Given the description of an element on the screen output the (x, y) to click on. 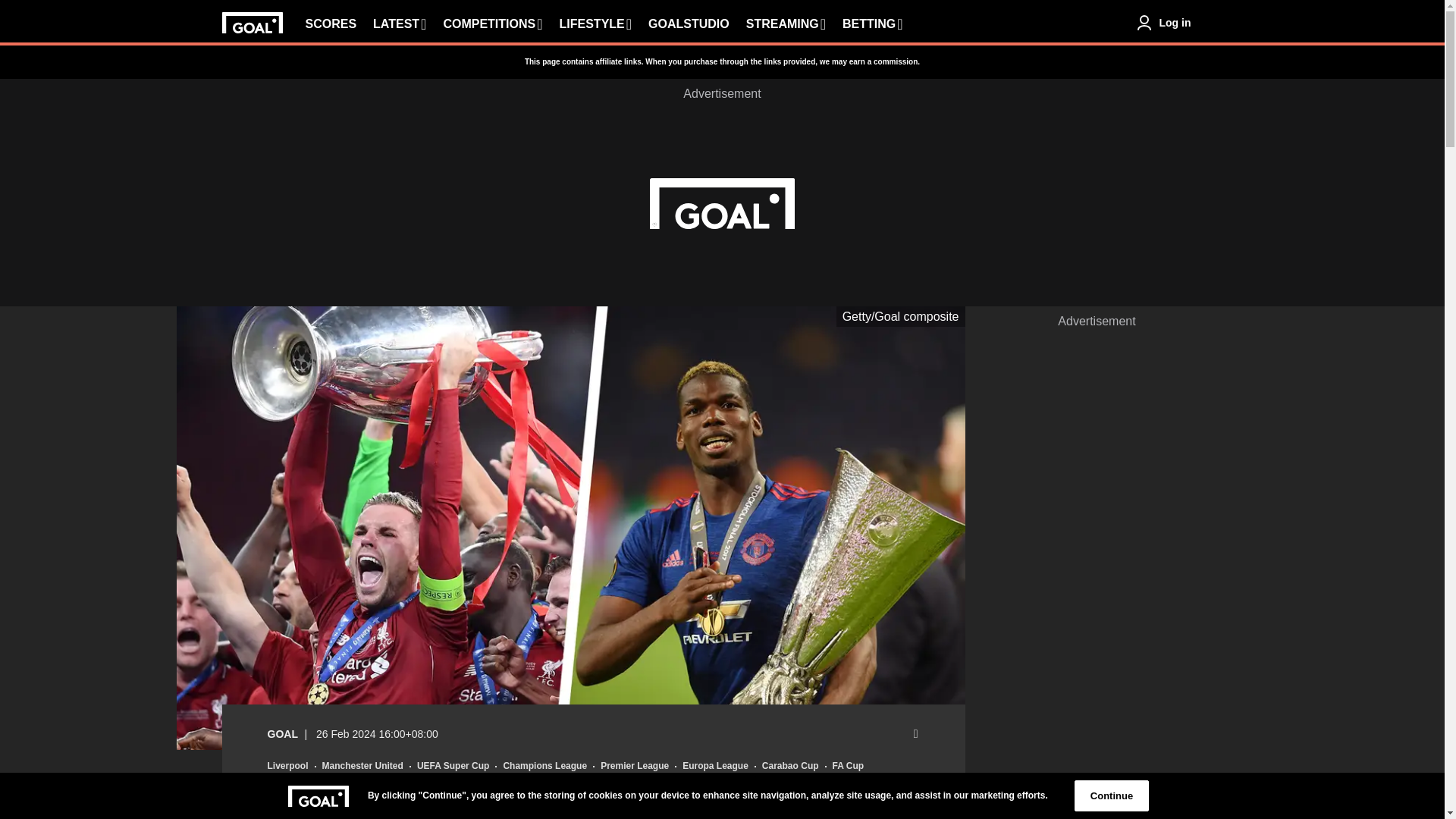
Manchester United (362, 766)
UEFA Super Cup (452, 766)
Carabao Cup (789, 766)
LATEST (399, 23)
COMPETITIONS (491, 23)
Liverpool (286, 766)
Premier League (633, 766)
FA Cup (848, 766)
Champions League (544, 766)
Europa League (715, 766)
